Given the description of an element on the screen output the (x, y) to click on. 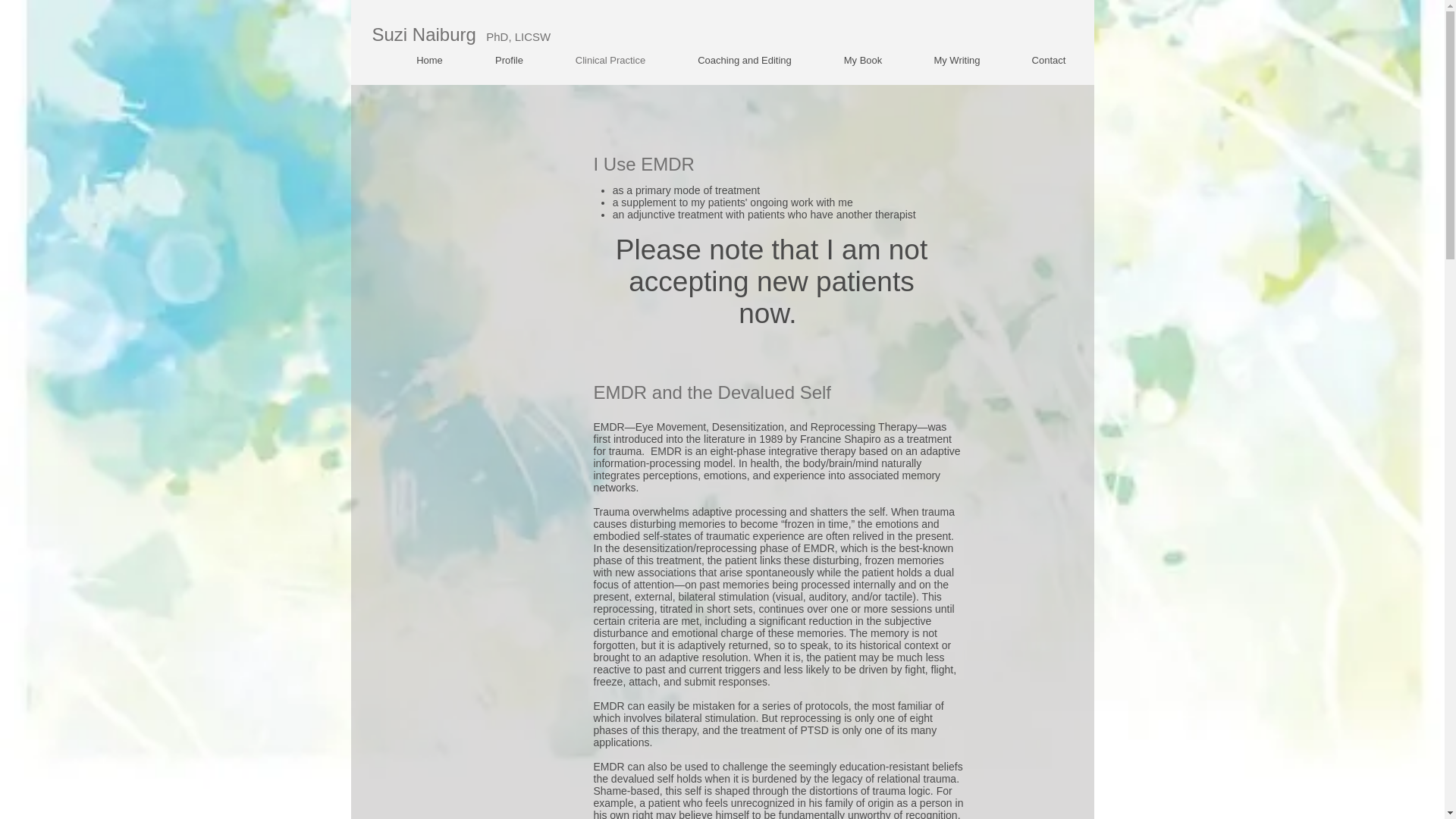
Coaching and Editing (744, 60)
My Writing (957, 60)
Contact (1048, 60)
Profile (508, 60)
Home (429, 60)
My Book (861, 60)
Clinical Practice (609, 60)
